Given the description of an element on the screen output the (x, y) to click on. 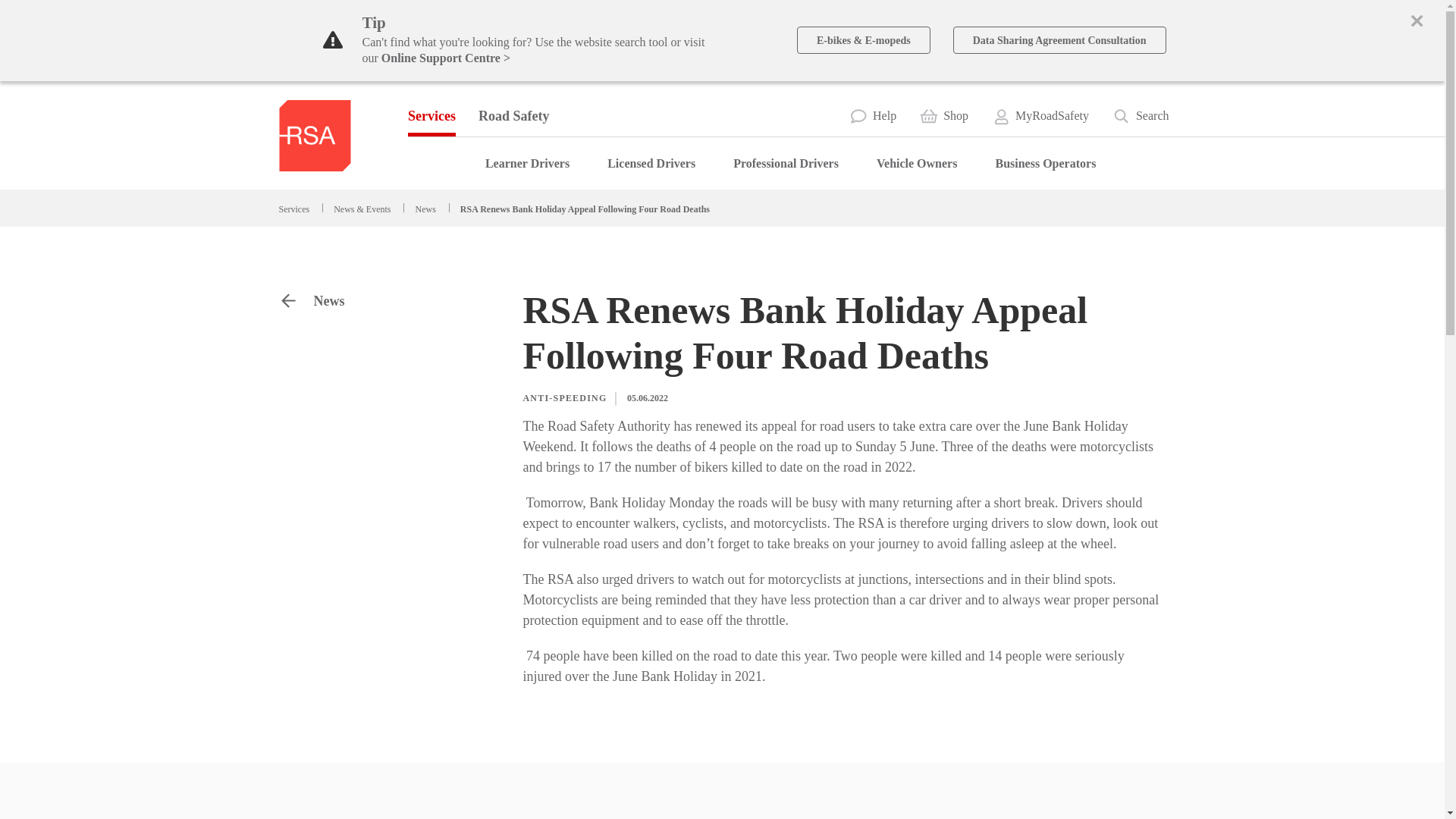
Services (431, 116)
Shop (943, 115)
Search (1140, 115)
Road Safety (514, 116)
Data Sharing Agreement Consultation (1059, 40)
MyRoadSafety (1040, 115)
Learner Drivers (526, 163)
dismiss notification (1416, 20)
Help (872, 115)
